Given the description of an element on the screen output the (x, y) to click on. 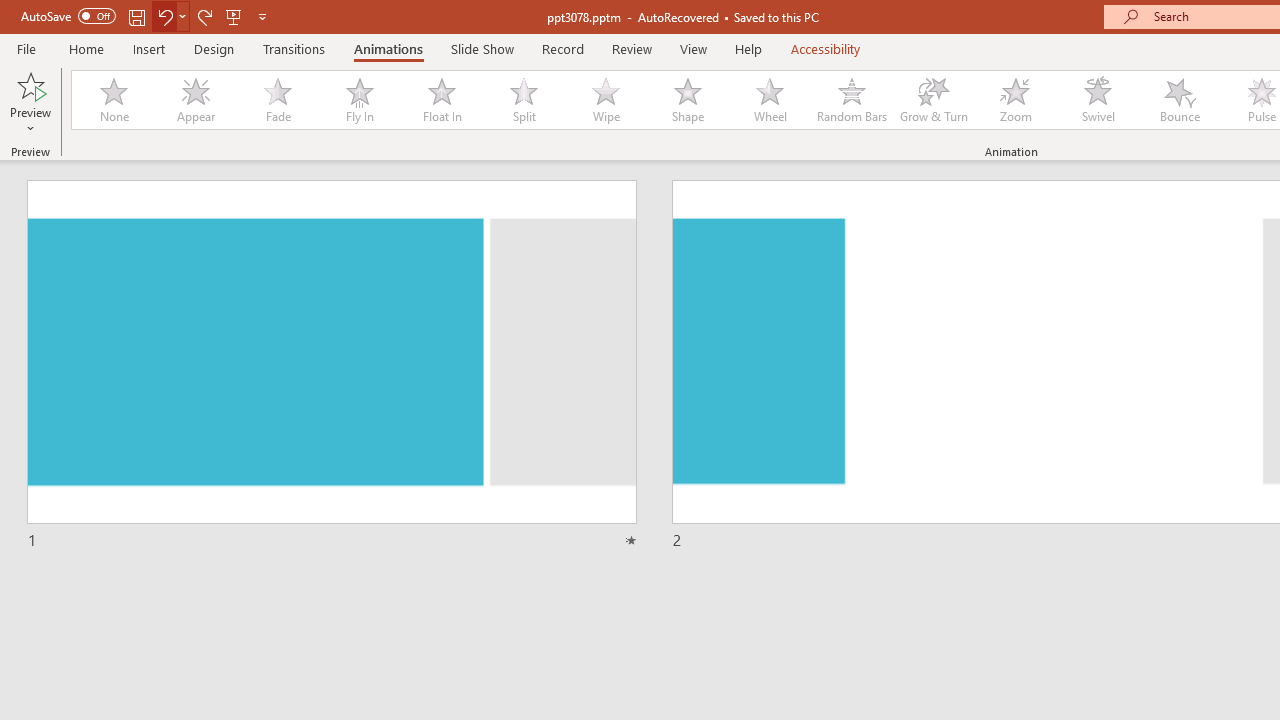
Float In (441, 100)
Random Bars (852, 100)
Wheel (770, 100)
Split (523, 100)
Fade (277, 100)
